Given the description of an element on the screen output the (x, y) to click on. 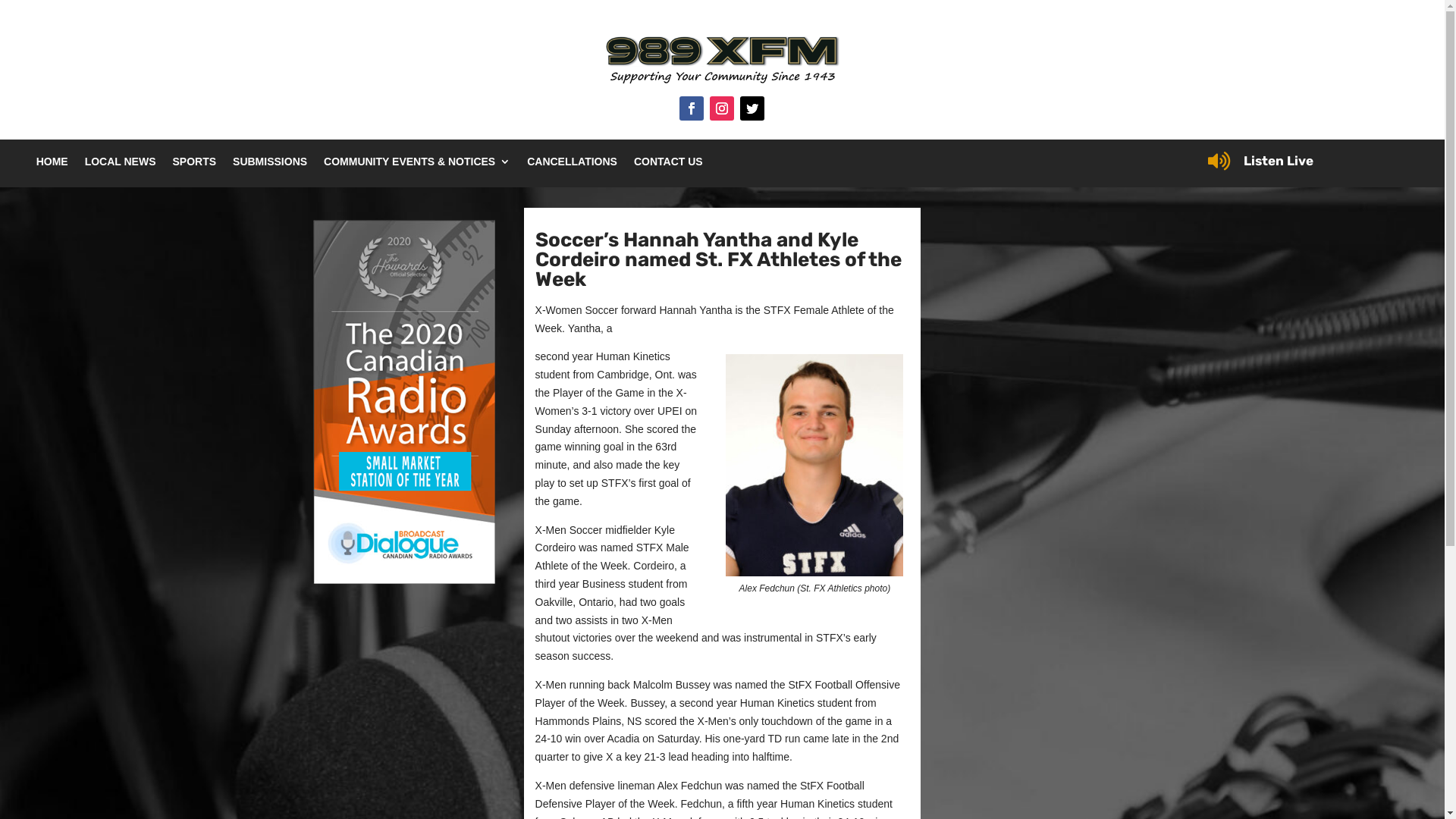
HOME Element type: text (52, 164)
Follow on Twitter Element type: hover (752, 108)
LOCAL NEWS Element type: text (120, 164)
logo_989xfm2023_487x130px Element type: hover (721, 61)
CANCELLATIONS Element type: text (572, 164)
989_smallmarket-stationoftheyear2020award Element type: hover (403, 401)
CONTACT US Element type: text (667, 164)
Follow on Instagram Element type: hover (721, 108)
SUBMISSIONS Element type: text (269, 164)
COMMUNITY EVENTS & NOTICES Element type: text (416, 164)
Listen Live Element type: text (1278, 160)
Follow on Facebook Element type: hover (691, 108)
SPORTS Element type: text (194, 164)
